Given the description of an element on the screen output the (x, y) to click on. 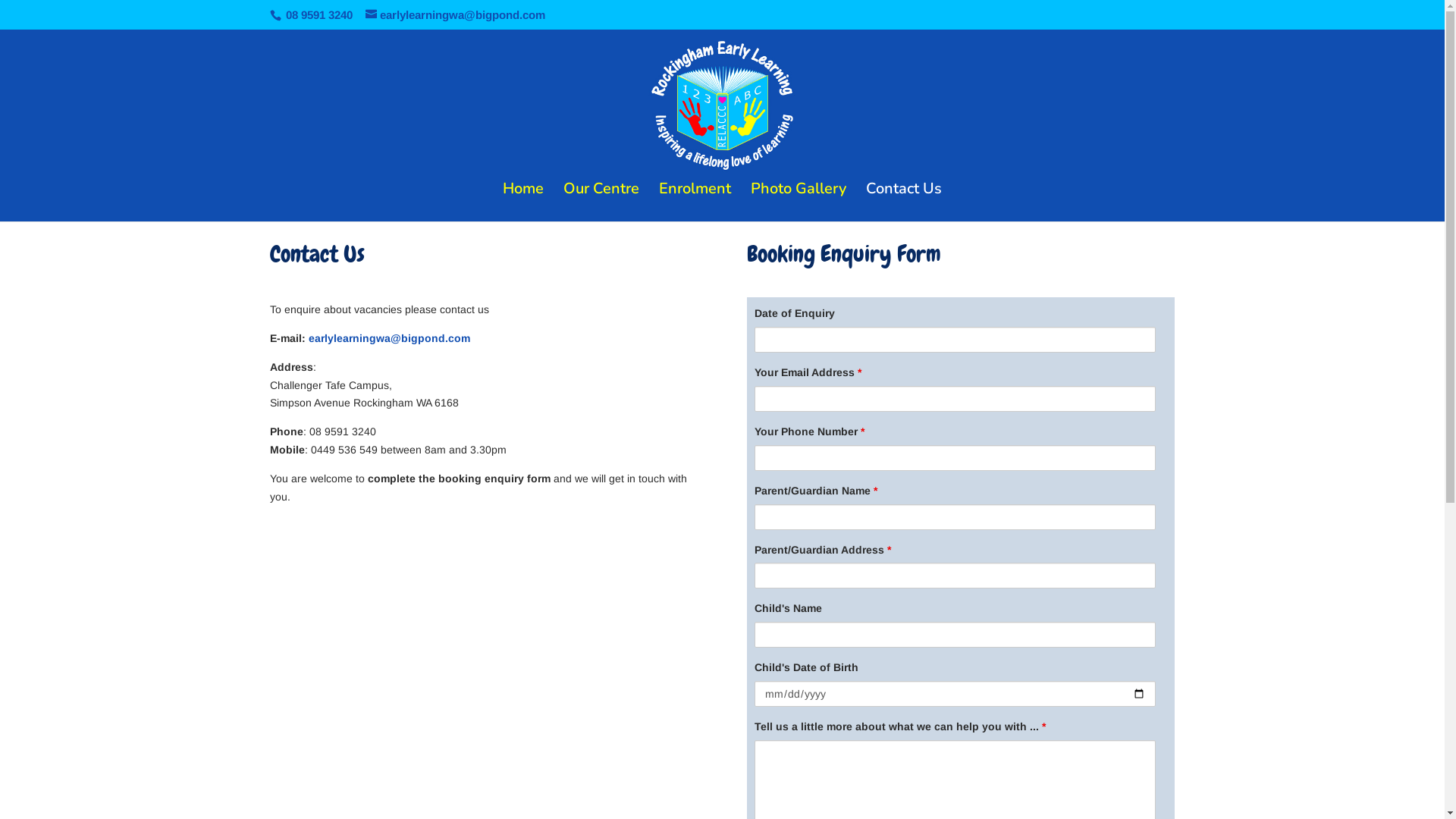
Enrolment Element type: text (694, 202)
Photo Gallery Element type: text (798, 202)
Our Centre Element type: text (601, 202)
earlylearningwa@bigpond.com Element type: text (455, 14)
08 9591 3240 Element type: text (316, 14)
Home Element type: text (522, 202)
Contact Us Element type: text (903, 202)
earlylearningwa@bigpond.com Element type: text (388, 338)
